Given the description of an element on the screen output the (x, y) to click on. 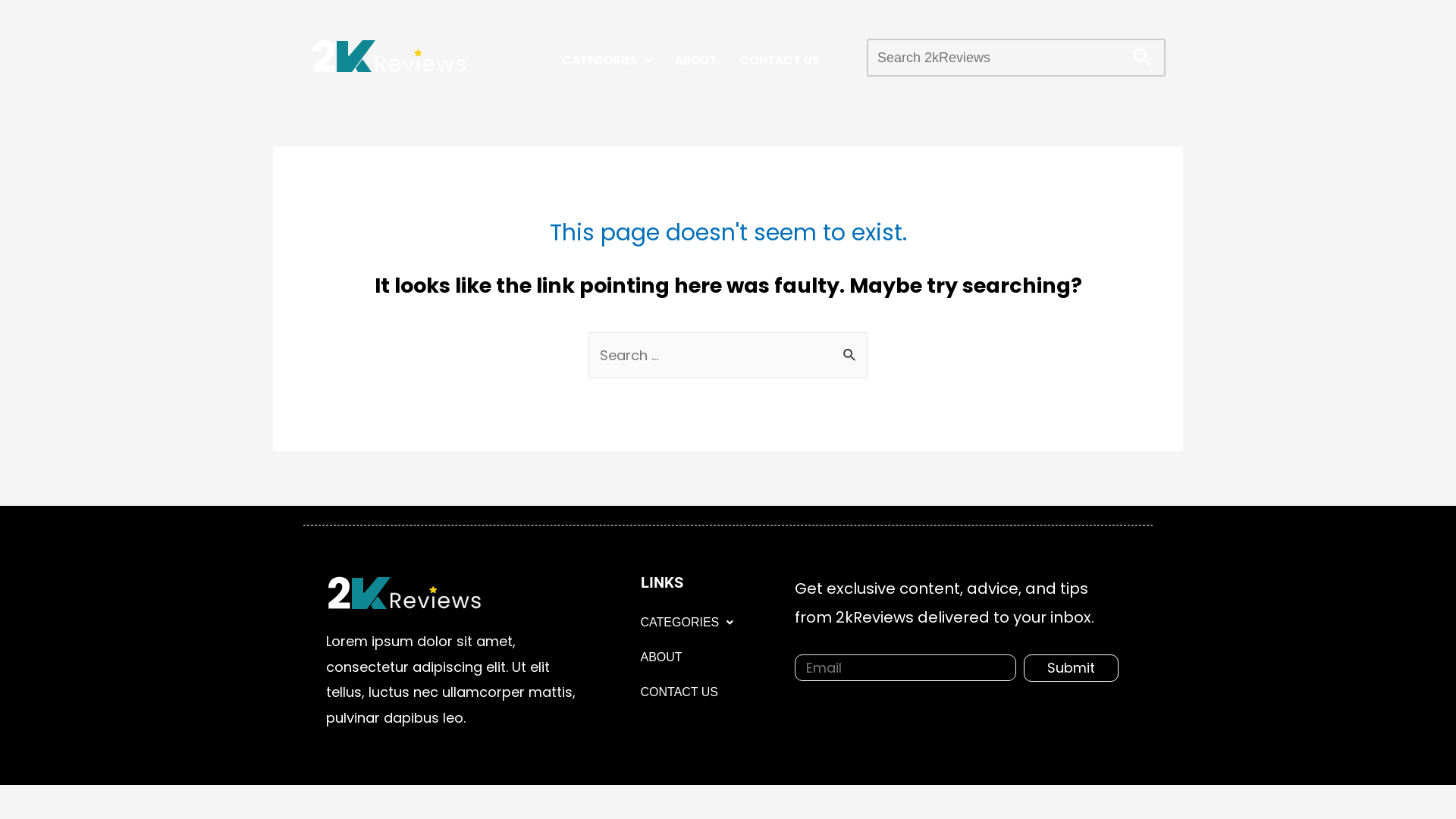
CATEGORIES Element type: text (687, 622)
Submit Element type: text (1070, 667)
CONTACT US Element type: text (779, 60)
Search Element type: text (851, 348)
CATEGORIES Element type: text (606, 60)
ABOUT Element type: text (695, 60)
CONTACT US Element type: text (679, 691)
Search Button Element type: text (1135, 51)
ABOUT Element type: text (661, 657)
